Given the description of an element on the screen output the (x, y) to click on. 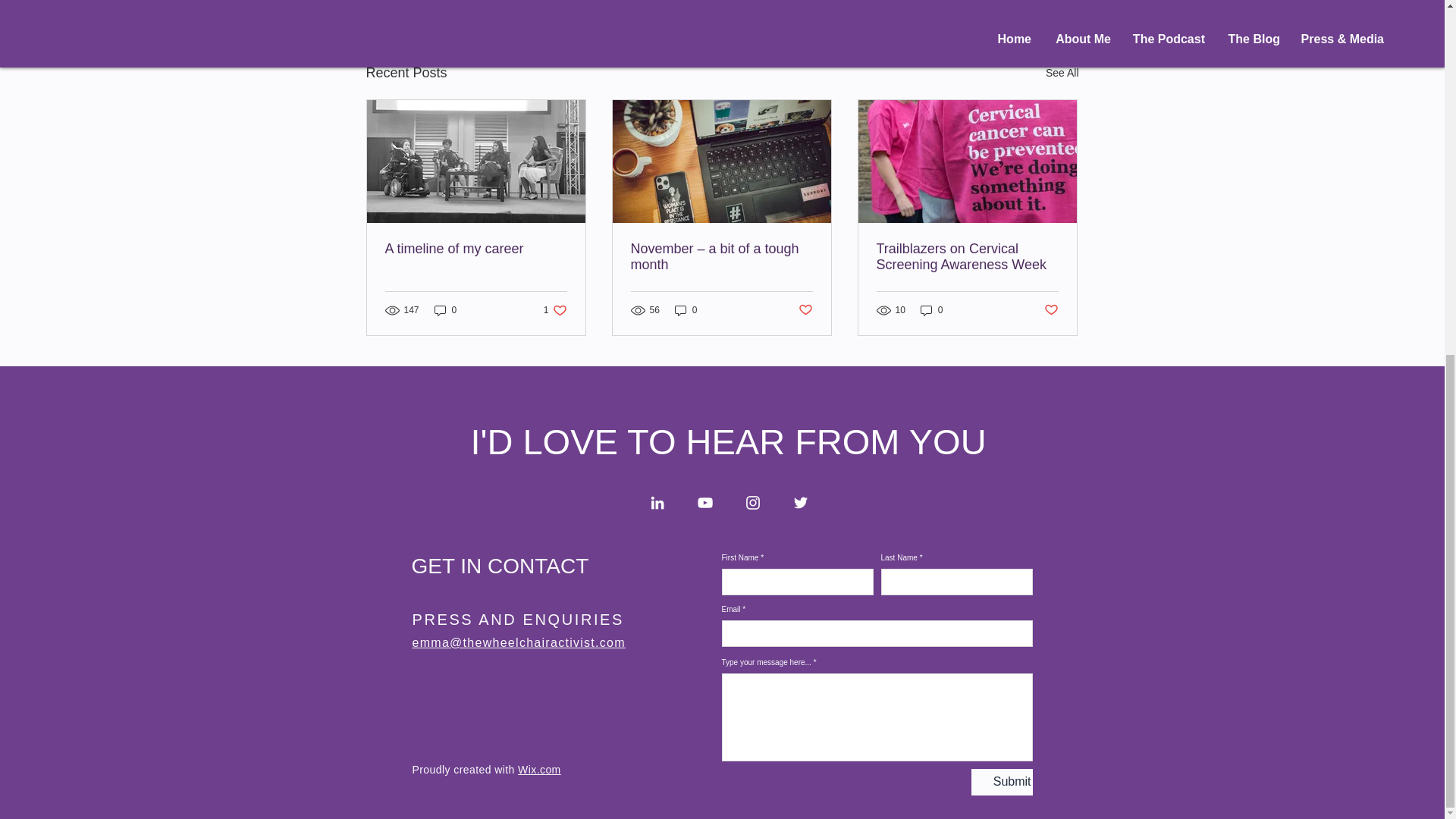
See All (1061, 73)
Trailblazers on Cervical Screening Awareness Week (967, 256)
0 (445, 310)
Post not marked as liked (804, 309)
Post not marked as liked (1050, 309)
0 (685, 310)
A timeline of my career (476, 248)
0 (555, 310)
